Given the description of an element on the screen output the (x, y) to click on. 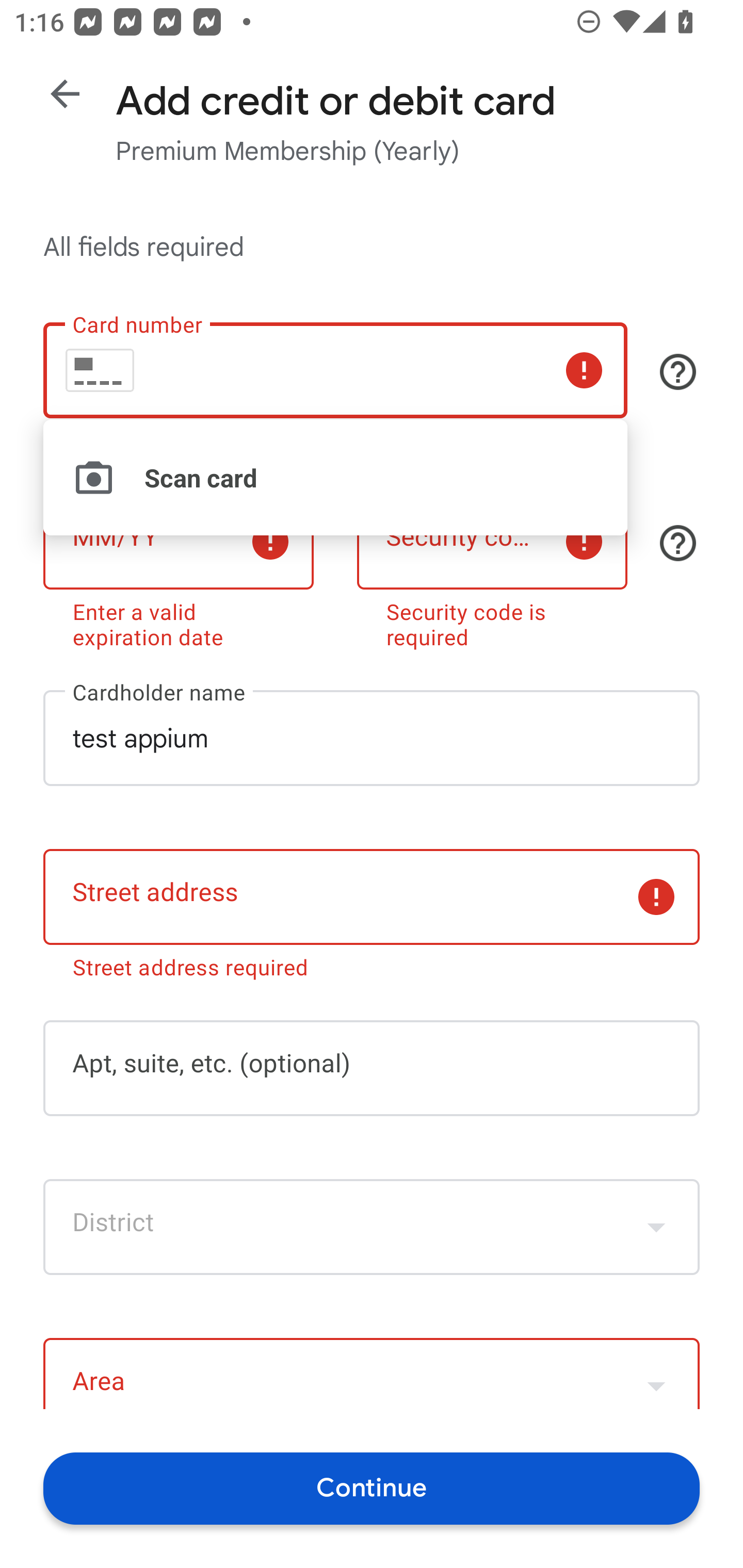
Back (64, 93)
Card number (335, 370)
Button, shows cards that are accepted for payment (677, 371)
Security code Error Security code is required (492, 567)
Security code help (677, 543)
test appium (371, 737)
Street address (371, 896)
Apt, suite, etc. (optional) (371, 1068)
District (371, 1226)
Show dropdown menu (655, 1226)
Area (371, 1373)
Show dropdown menu (655, 1375)
Continue (371, 1487)
